Given the description of an element on the screen output the (x, y) to click on. 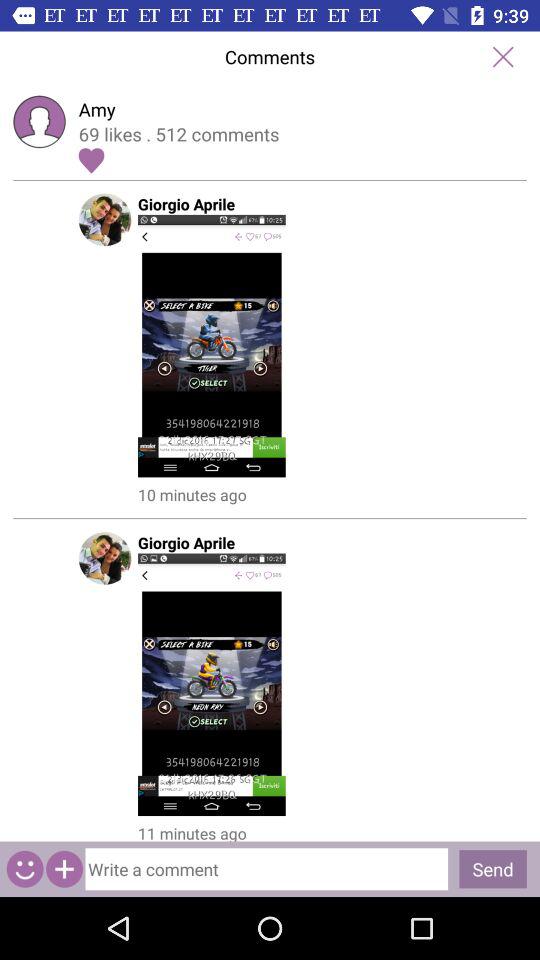
add attachment or pictures (64, 868)
